Given the description of an element on the screen output the (x, y) to click on. 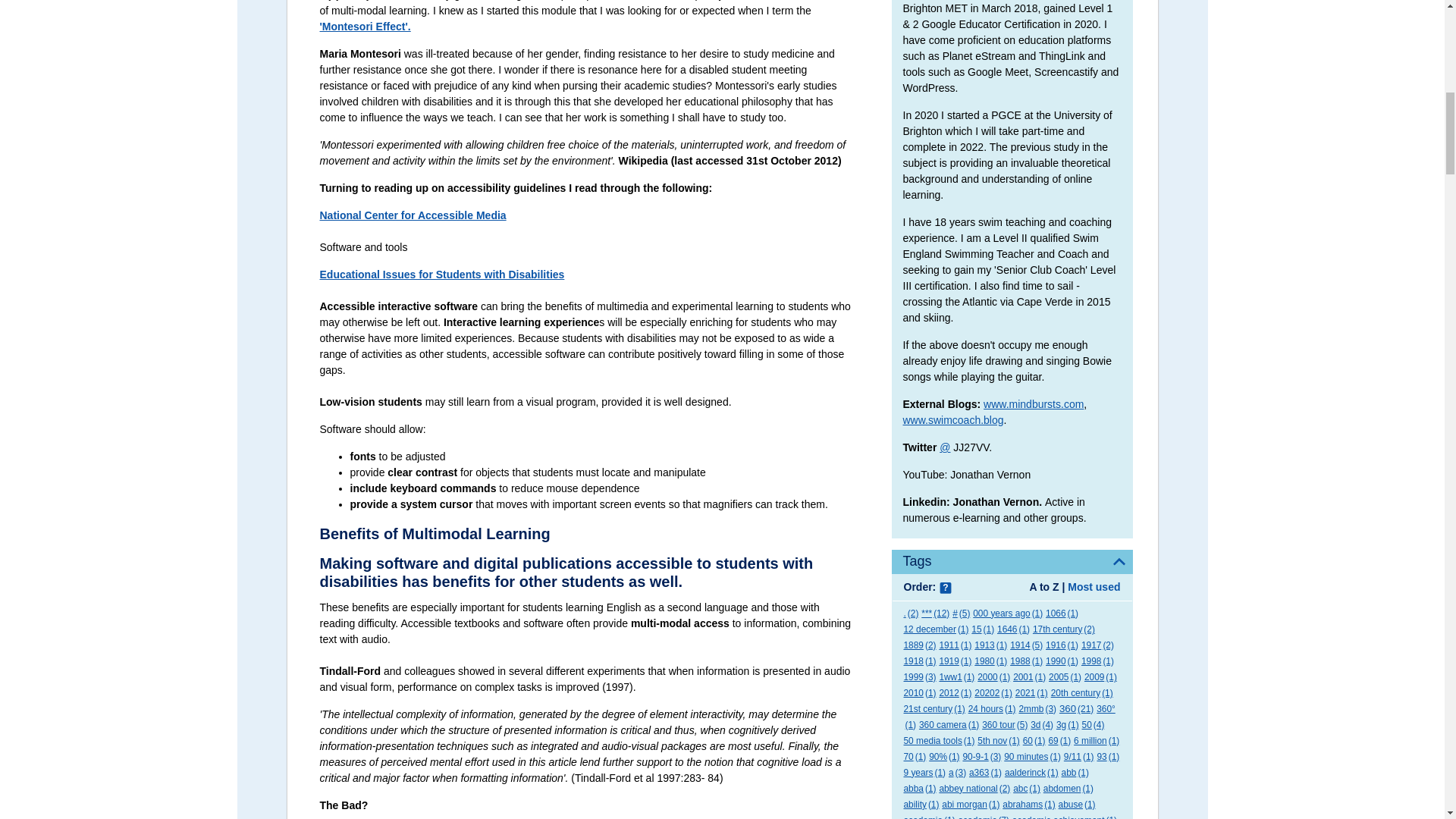
Help with Order: (945, 588)
www.mindbursts.com (1033, 404)
Most used (1093, 586)
www.swimcoach.blog (952, 419)
Tags (1011, 561)
